Given the description of an element on the screen output the (x, y) to click on. 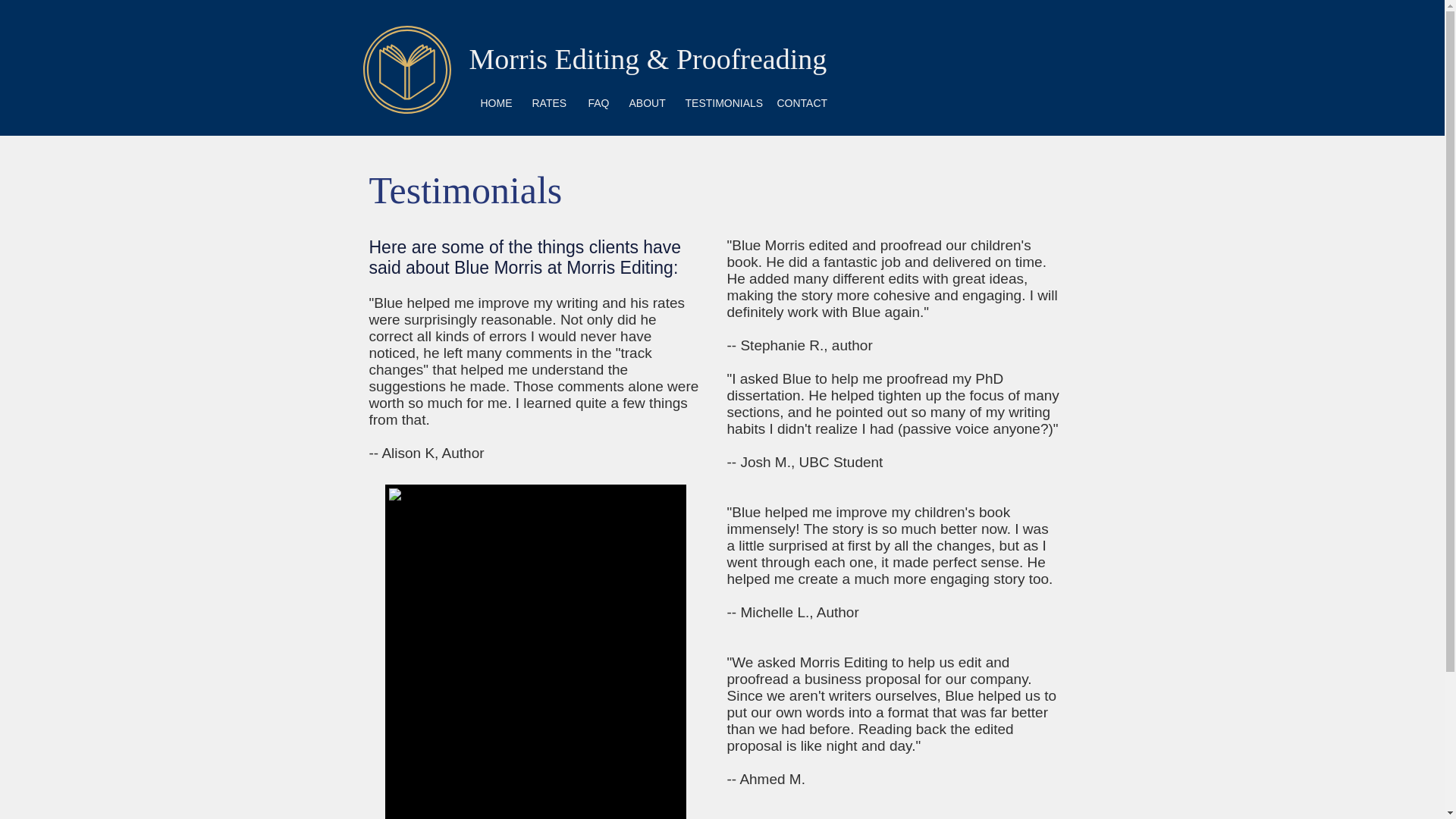
CONTACT (799, 102)
ABOUT (646, 102)
HOME (494, 102)
FAQ (598, 102)
TESTIMONIALS (721, 102)
RATES (548, 102)
